Given the description of an element on the screen output the (x, y) to click on. 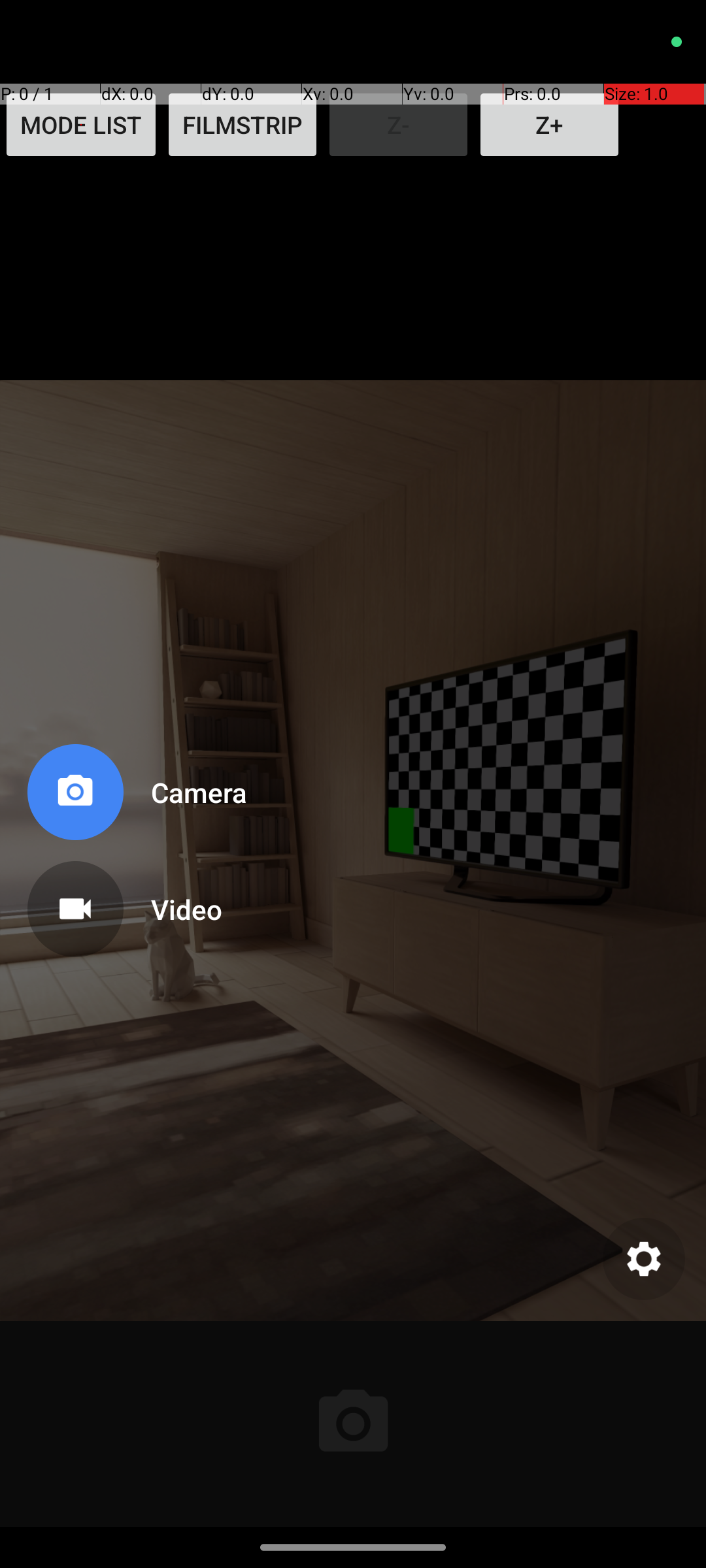
Switch to Camera Mode Element type: android.widget.FrameLayout (134, 797)
Switch to Video Camera Element type: android.widget.FrameLayout (134, 903)
